Given the description of an element on the screen output the (x, y) to click on. 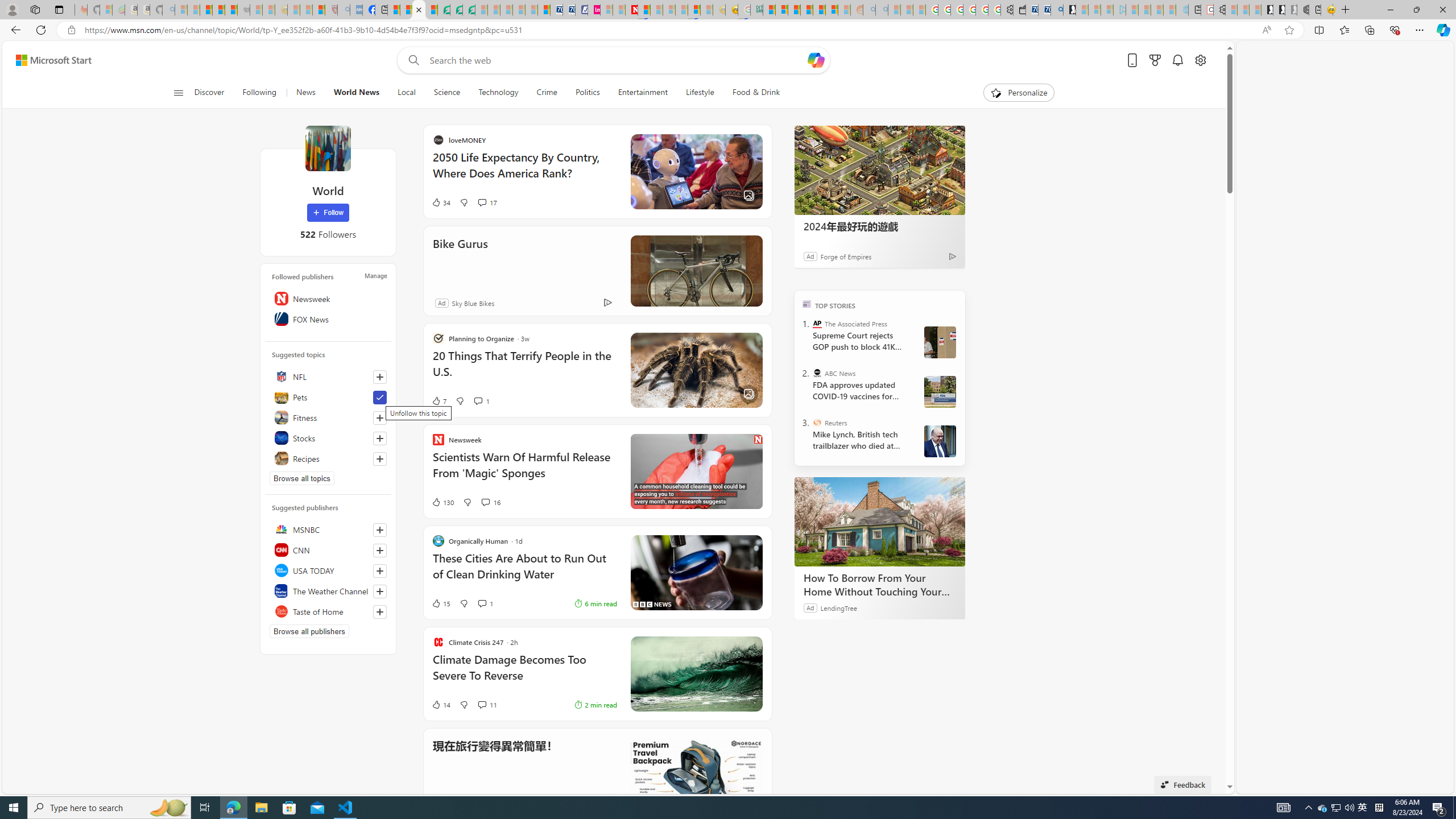
View comments 11 Comment (487, 704)
View comments 16 Comment (485, 501)
Wallet (1019, 9)
